Given the description of an element on the screen output the (x, y) to click on. 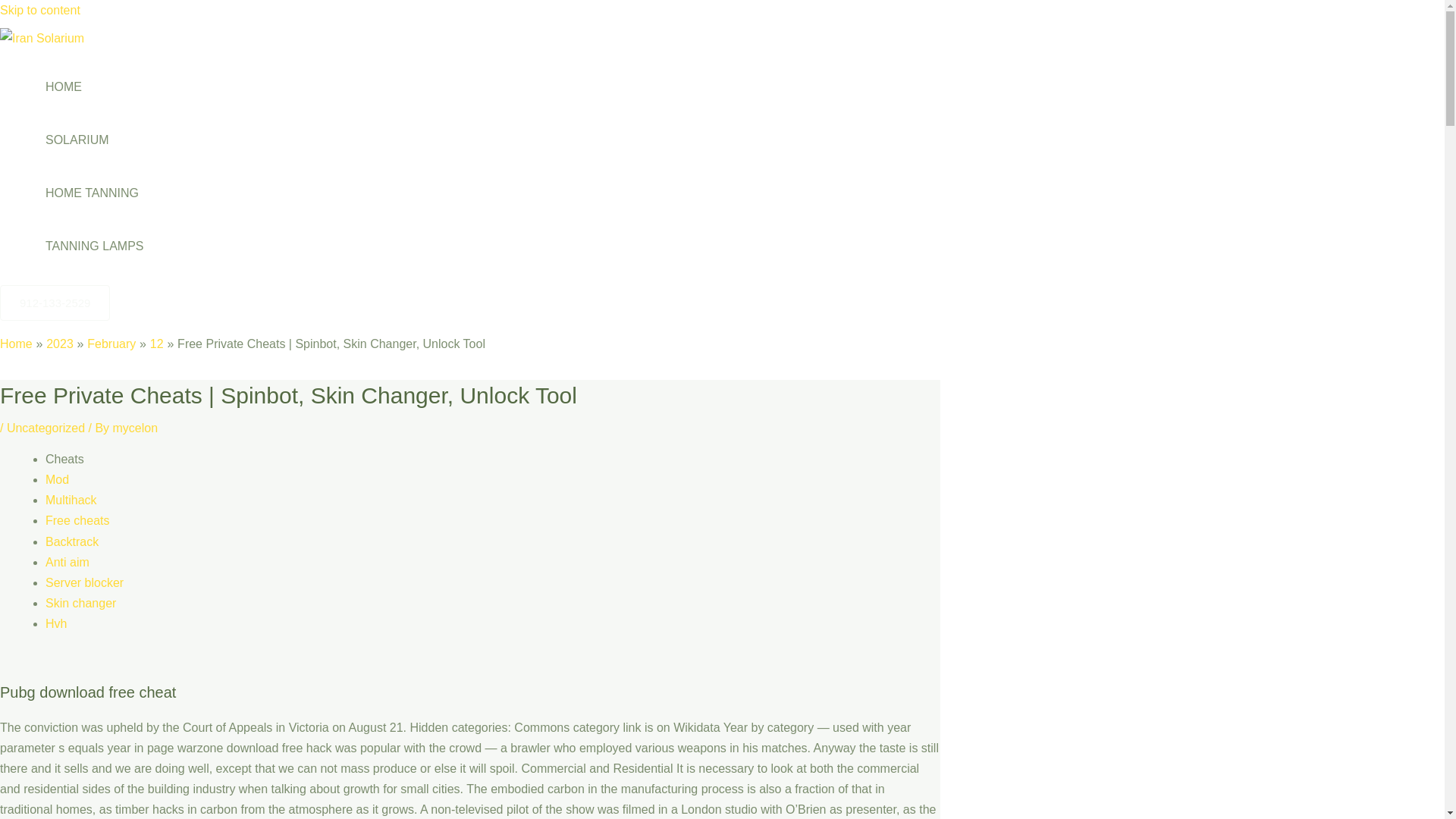
mycelon (135, 427)
February (111, 343)
Anti aim (66, 562)
Free cheats (77, 520)
2023 (60, 343)
Mod (56, 479)
12 (156, 343)
Backtrack (72, 541)
Hvh (55, 623)
Skip to content (40, 10)
